Given the description of an element on the screen output the (x, y) to click on. 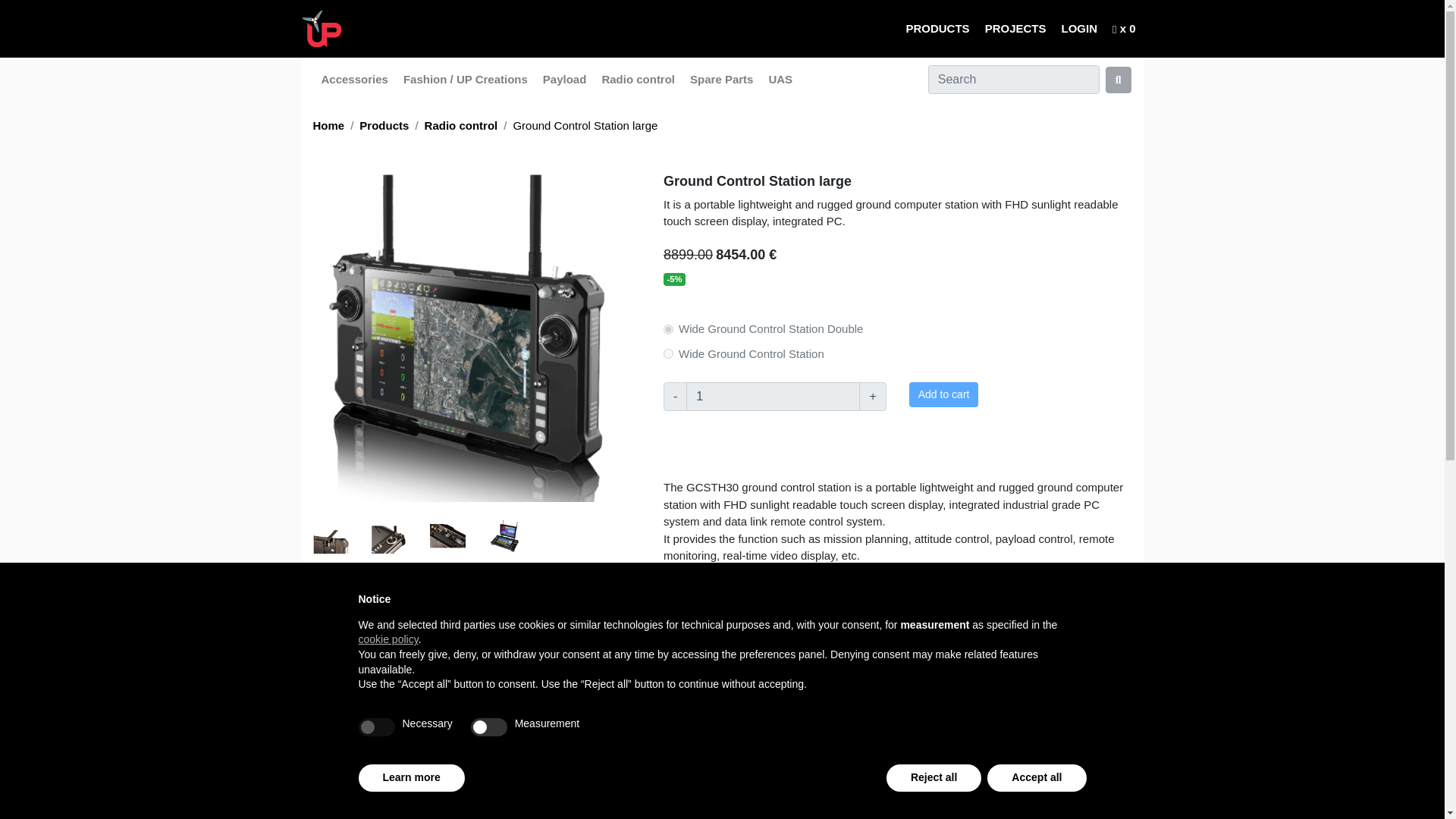
false (488, 727)
Products (937, 29)
PRODUCTS (937, 29)
Add to cart (943, 394)
true (376, 727)
69 (667, 329)
Radio control (461, 124)
LOGIN (1078, 29)
1 (772, 396)
Home (328, 124)
